Given the description of an element on the screen output the (x, y) to click on. 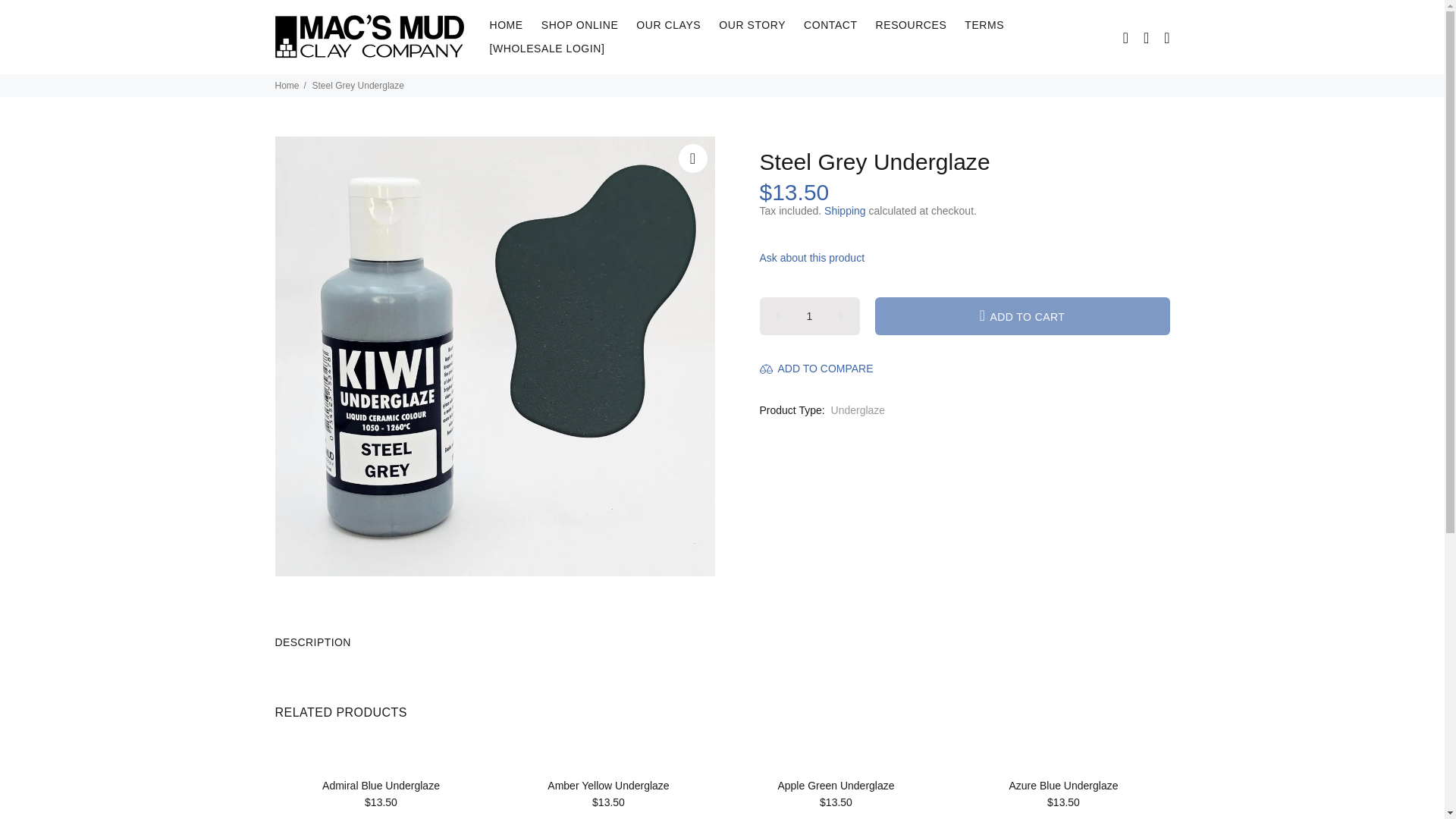
Home (286, 85)
1 (810, 315)
CONTACT (830, 24)
Ask about this product (817, 257)
OUR CLAYS (668, 24)
OUR STORY (752, 24)
RESOURCES (911, 24)
TERMS (984, 24)
Shipping (845, 210)
SHOP ONLINE (579, 24)
HOME (506, 24)
